Given the description of an element on the screen output the (x, y) to click on. 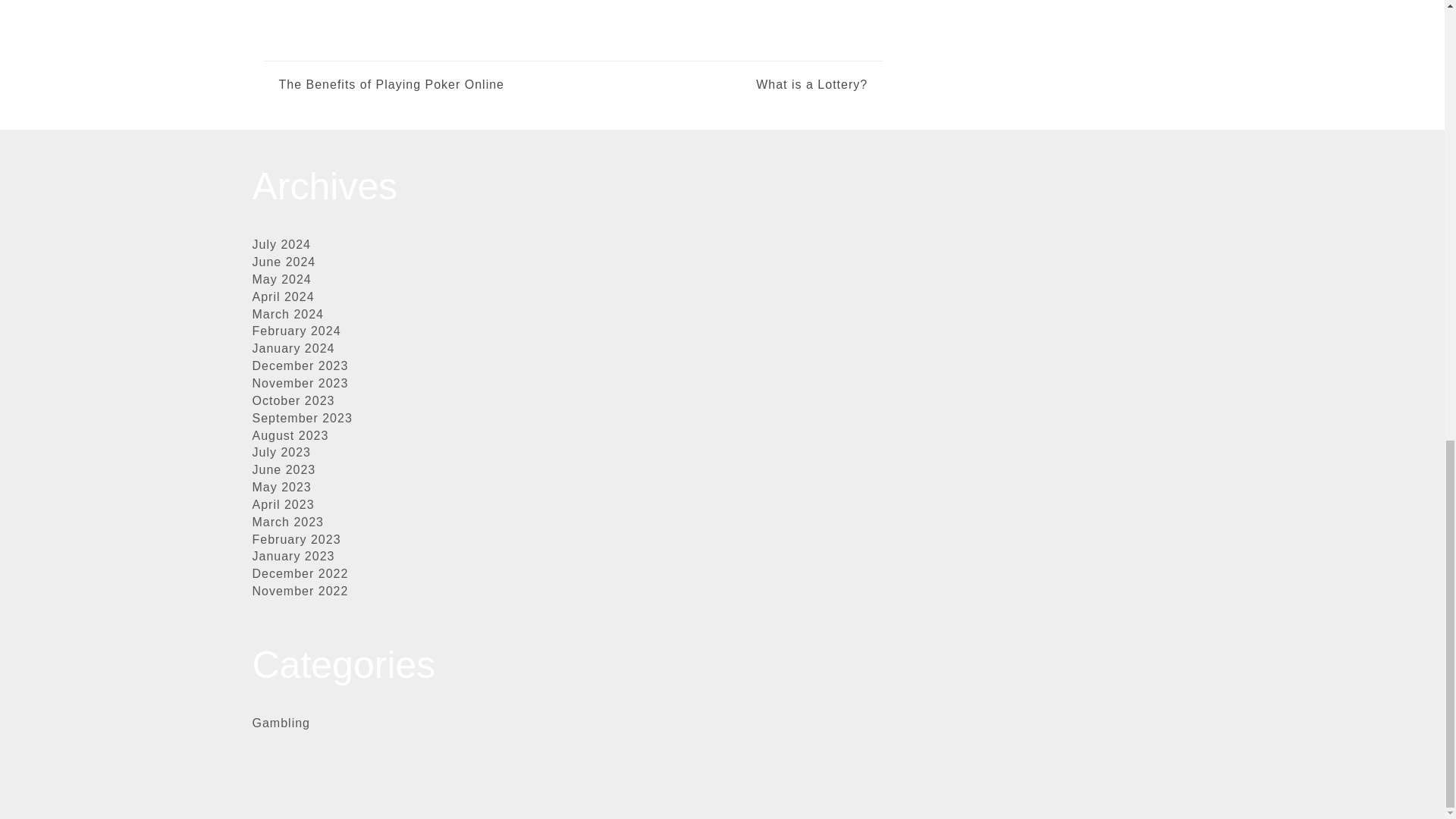
December 2023 (299, 365)
August 2023 (290, 435)
March 2024 (287, 314)
January 2024 (292, 348)
September 2023 (301, 418)
December 2022 (299, 573)
January 2023 (292, 555)
July 2023 (281, 451)
The Benefits of Playing Poker Online (391, 85)
March 2023 (287, 521)
February 2023 (295, 539)
February 2024 (295, 330)
May 2023 (281, 486)
April 2023 (282, 504)
October 2023 (292, 400)
